Given the description of an element on the screen output the (x, y) to click on. 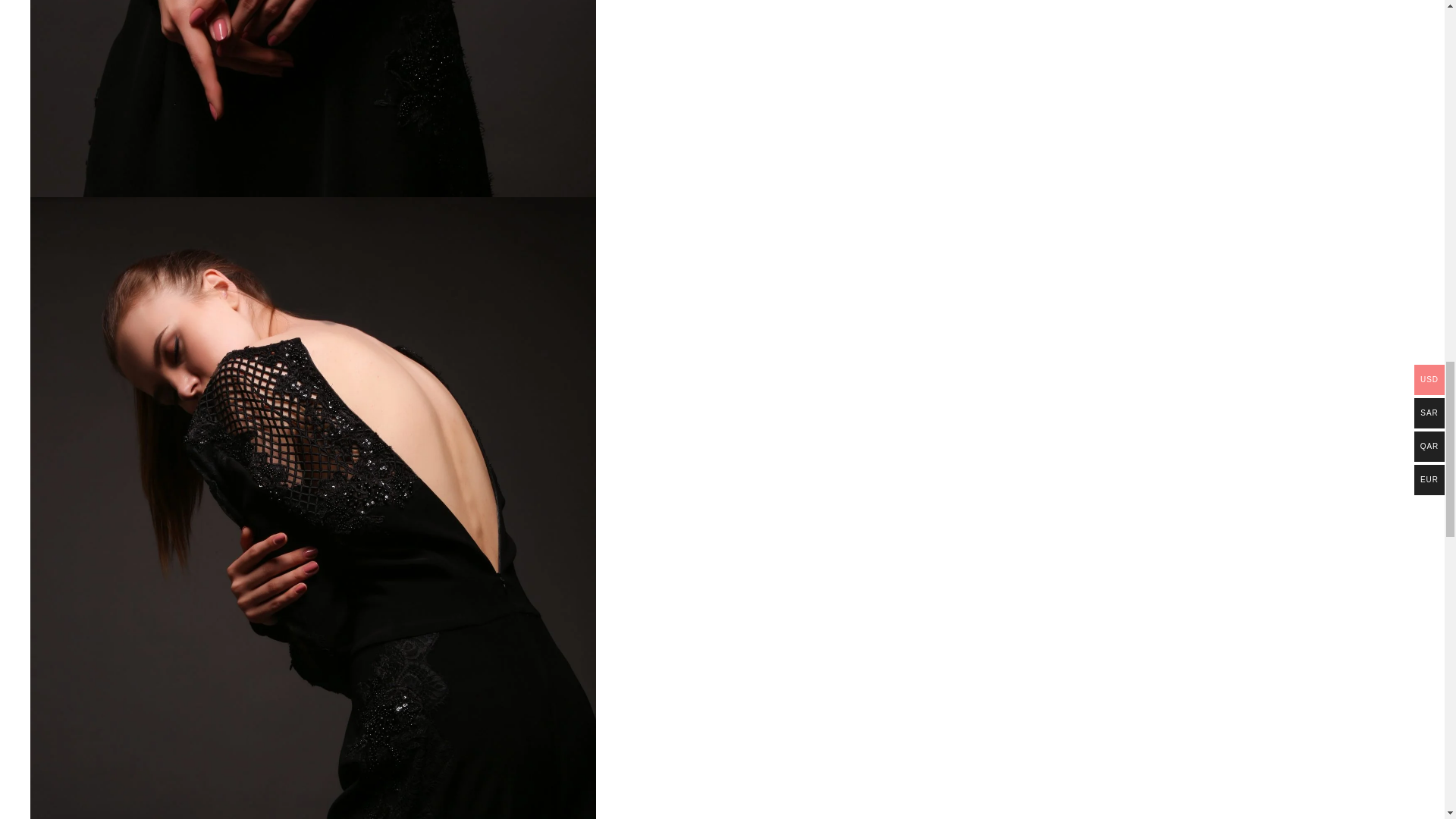
0Y4A1183 (312, 98)
